Given the description of an element on the screen output the (x, y) to click on. 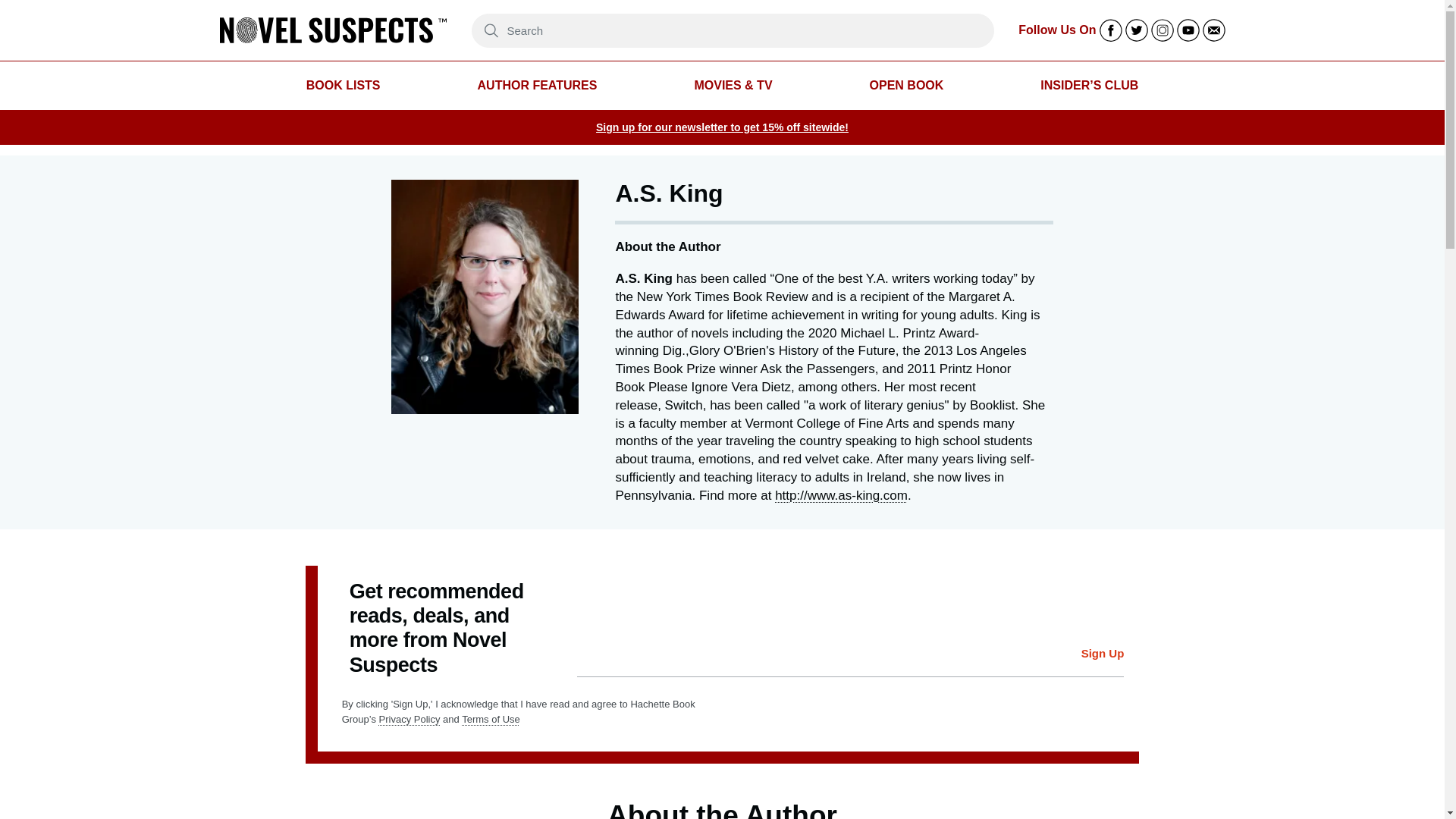
Sign Up (1102, 653)
OPEN BOOK (906, 85)
Terms of Use (490, 718)
AUTHOR FEATURES (536, 85)
BOOK LISTS (342, 85)
Go to Hachette Book Group home (332, 30)
Privacy Policy (409, 718)
